Given the description of an element on the screen output the (x, y) to click on. 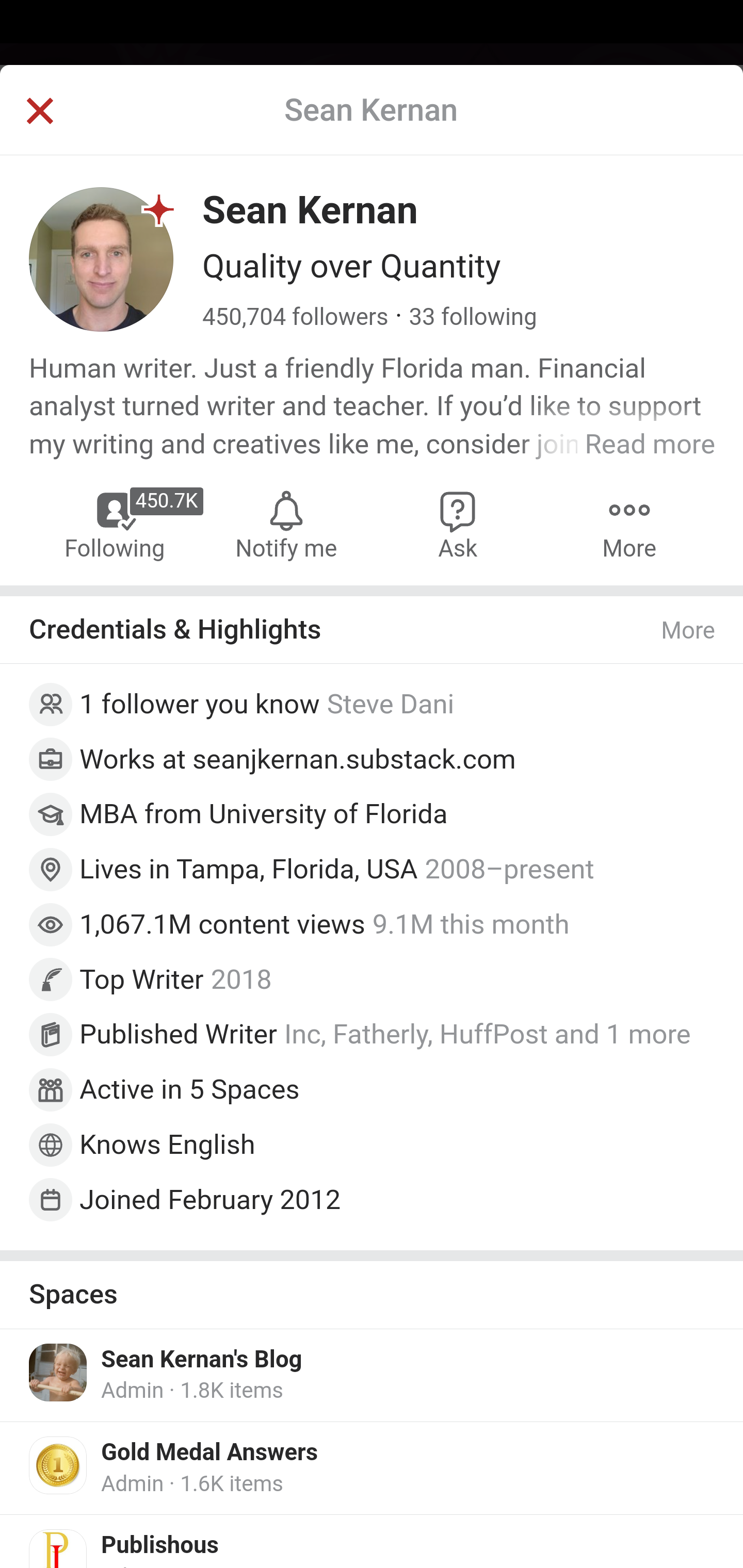
 (39, 112)
Quora+ Subscriber (159, 208)
450,704 followers (296, 317)
33 following (472, 317)
Following Sean Kernan 450.7K Following (115, 524)
Notify me (285, 524)
Ask (458, 524)
More (628, 524)
More (688, 630)
Profile photo for Mason Marcobello (58, 704)
Published Writer (178, 1034)
Profile photo for Richard Holl (54, 1146)
Icon for Sean Kernan's Blog (58, 1372)
Sean Kernan's Blog (202, 1359)
Icon for Gold Medal Answers (58, 1464)
Gold Medal Answers (210, 1452)
Icon for Publishous (58, 1548)
Publishous (160, 1545)
